Given the description of an element on the screen output the (x, y) to click on. 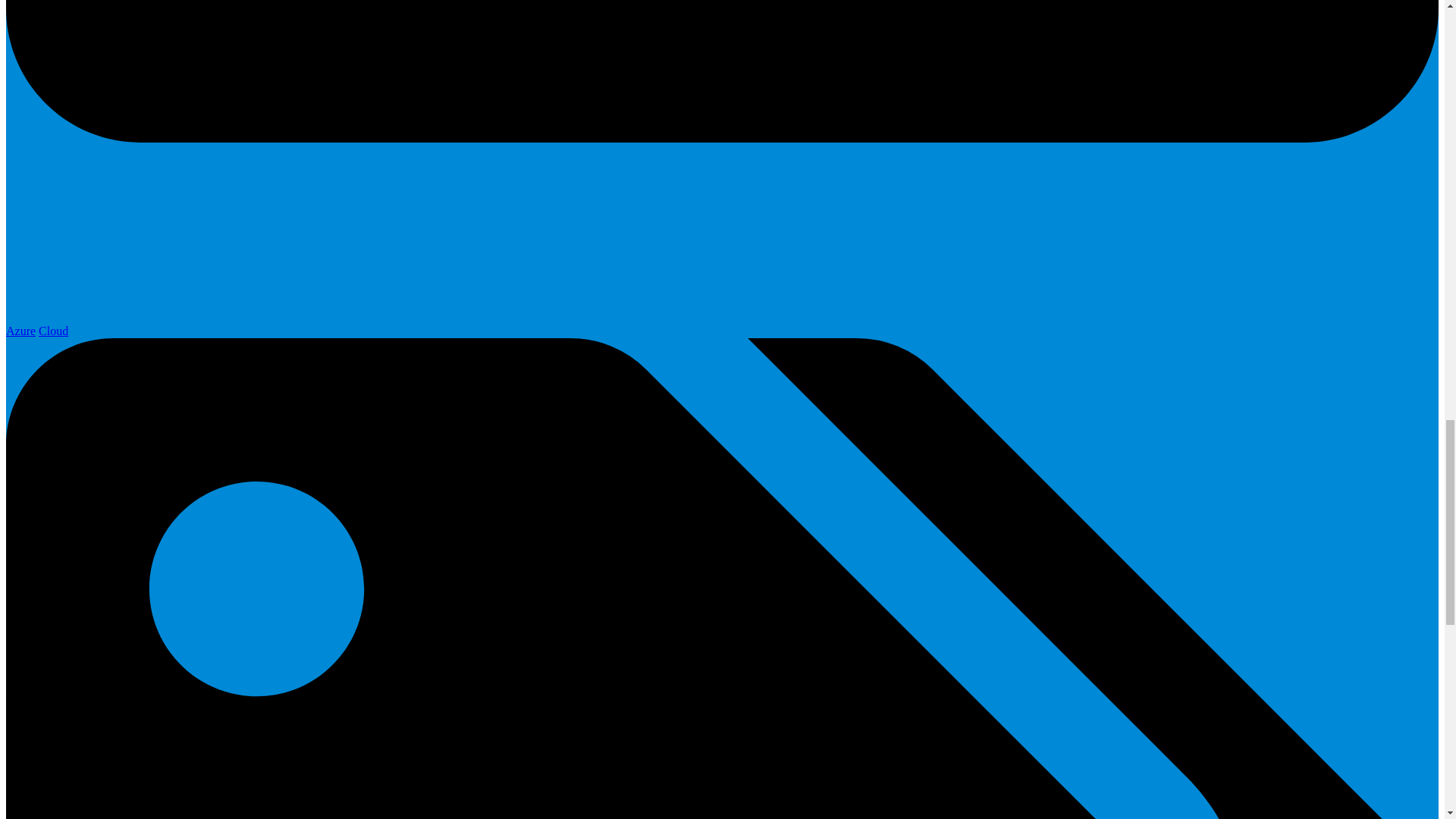
Cloud (53, 330)
Azure (19, 330)
